Given the description of an element on the screen output the (x, y) to click on. 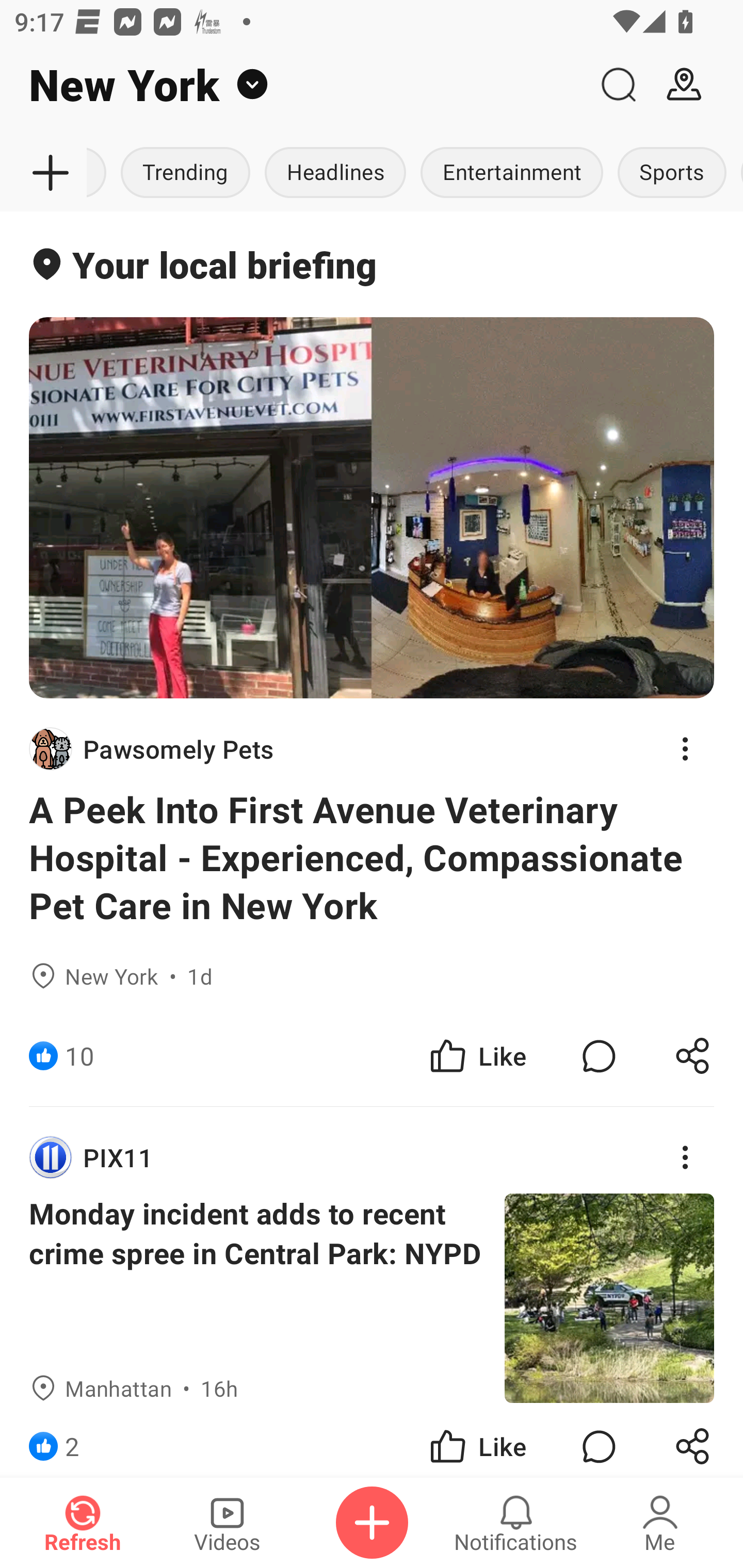
New York (292, 84)
Trending (185, 172)
Headlines (335, 172)
Entertainment (511, 172)
Sports (672, 172)
10 (79, 1055)
Like (476, 1055)
2 (72, 1440)
Like (476, 1440)
Videos (227, 1522)
Notifications (516, 1522)
Me (659, 1522)
